Given the description of an element on the screen output the (x, y) to click on. 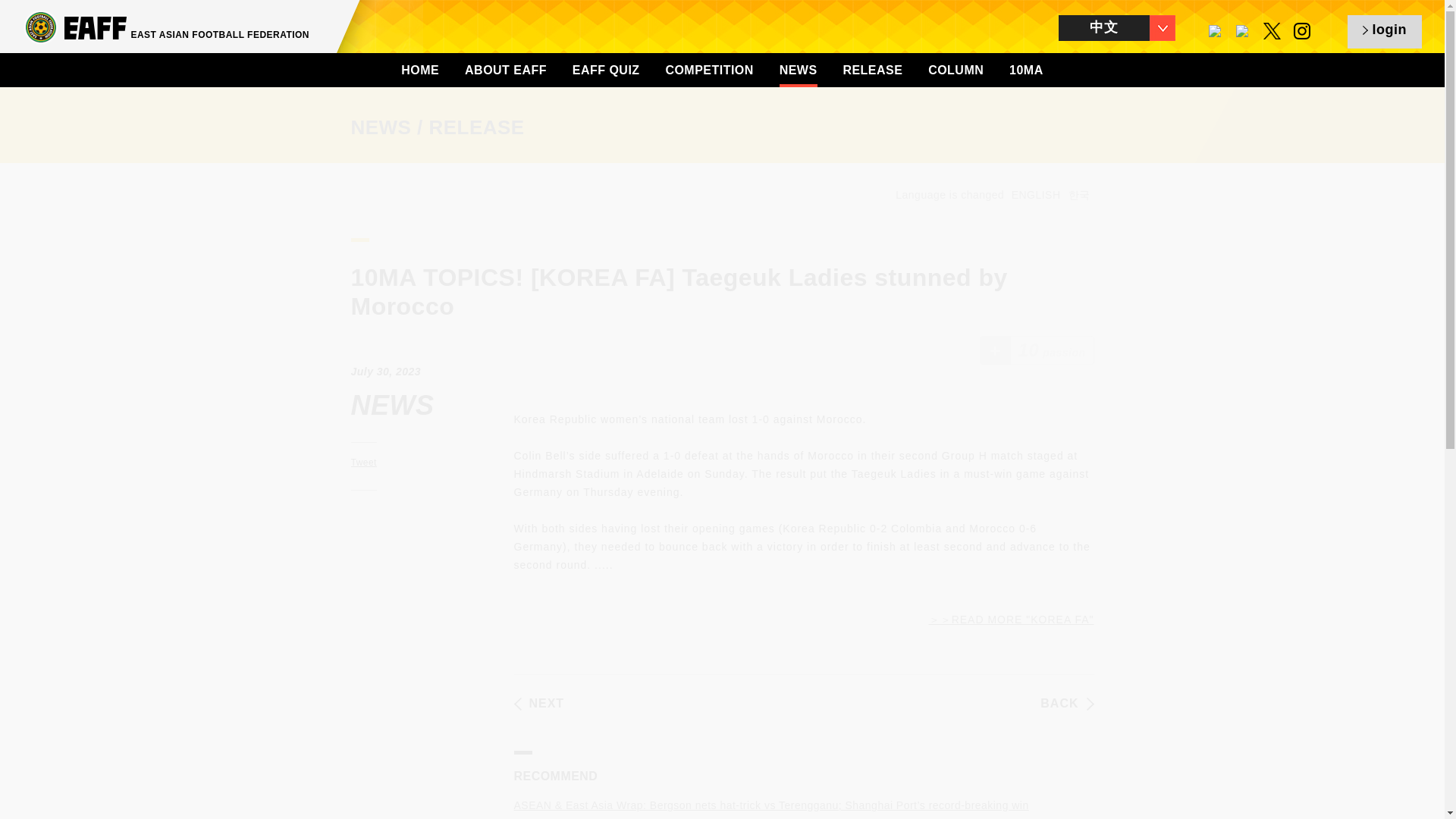
EAFF QUIZ (606, 69)
login (1385, 31)
Tweet (362, 462)
RELEASE (872, 69)
ENGLISH (1036, 194)
NEXT (538, 703)
BACK (1067, 703)
NEWS (797, 69)
ABOUT EAFF (505, 69)
COMPETITION (708, 69)
HOME (420, 69)
COLUMN (956, 69)
10MA (1026, 69)
